Given the description of an element on the screen output the (x, y) to click on. 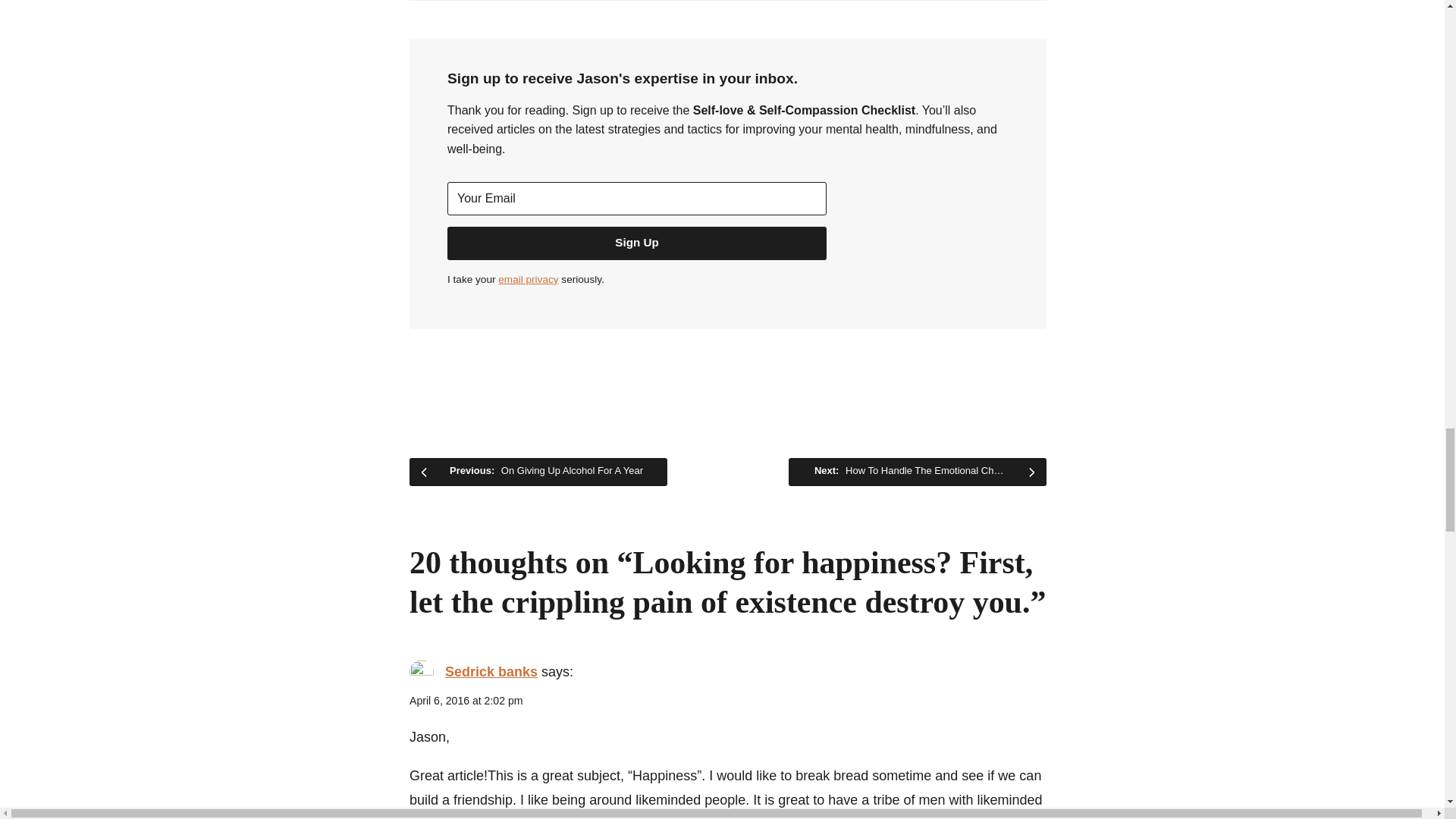
Privacy Policy (527, 279)
Sedrick banks (491, 671)
Next: How To Handle The Emotional Chaos Of Change (917, 471)
Sign Up (636, 243)
Sign Up (636, 243)
Your Email (636, 198)
email privacy (527, 279)
Previous: On Giving Up Alcohol For A Year (537, 471)
April 6, 2016 at 2:02 pm (465, 700)
